Given the description of an element on the screen output the (x, y) to click on. 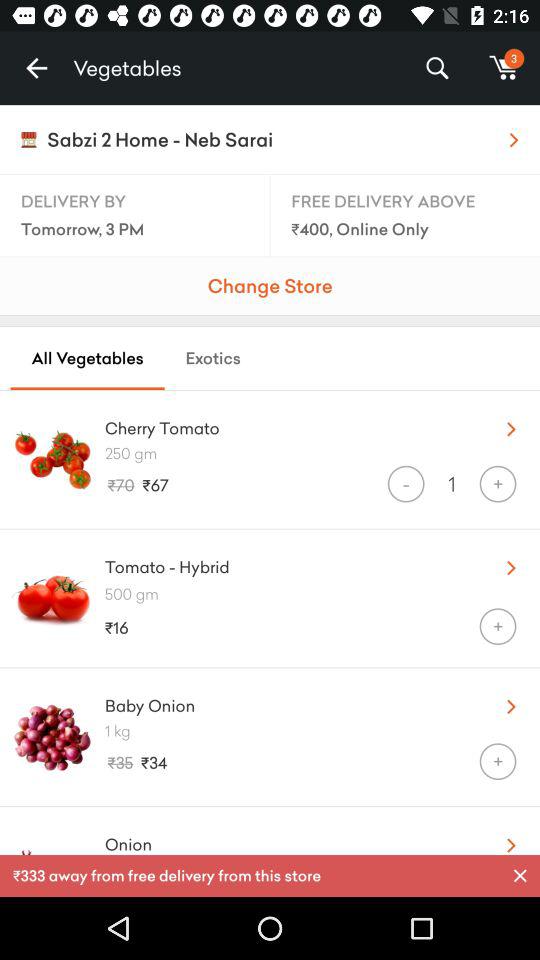
turn off item above 250 gm item (288, 424)
